Given the description of an element on the screen output the (x, y) to click on. 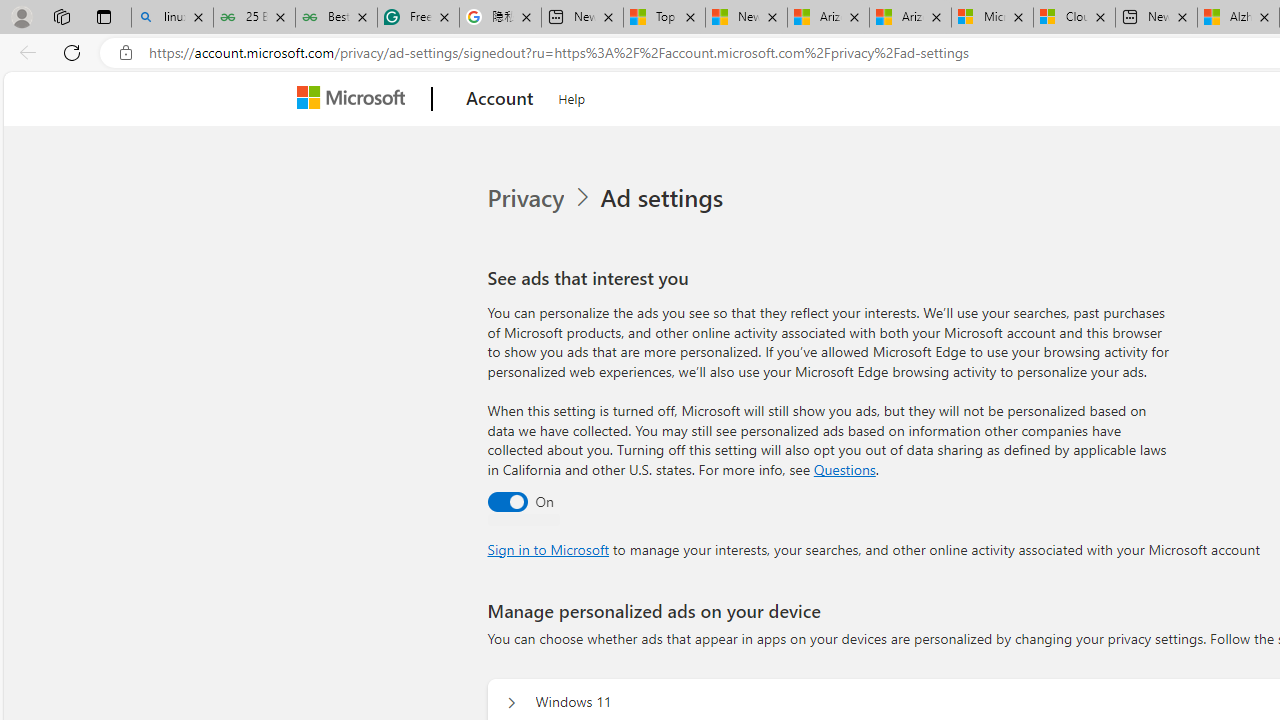
Microsoft Services Agreement (992, 17)
Ad settings (666, 197)
Privacy (527, 197)
Manage personalized ads on your device Windows 11 (511, 702)
25 Basic Linux Commands For Beginners - GeeksforGeeks (254, 17)
Sign in to Microsoft (548, 548)
News - MSN (746, 17)
Help (572, 96)
Account (499, 99)
Go to Questions section (843, 468)
Cloud Computing Services | Microsoft Azure (1074, 17)
